Given the description of an element on the screen output the (x, y) to click on. 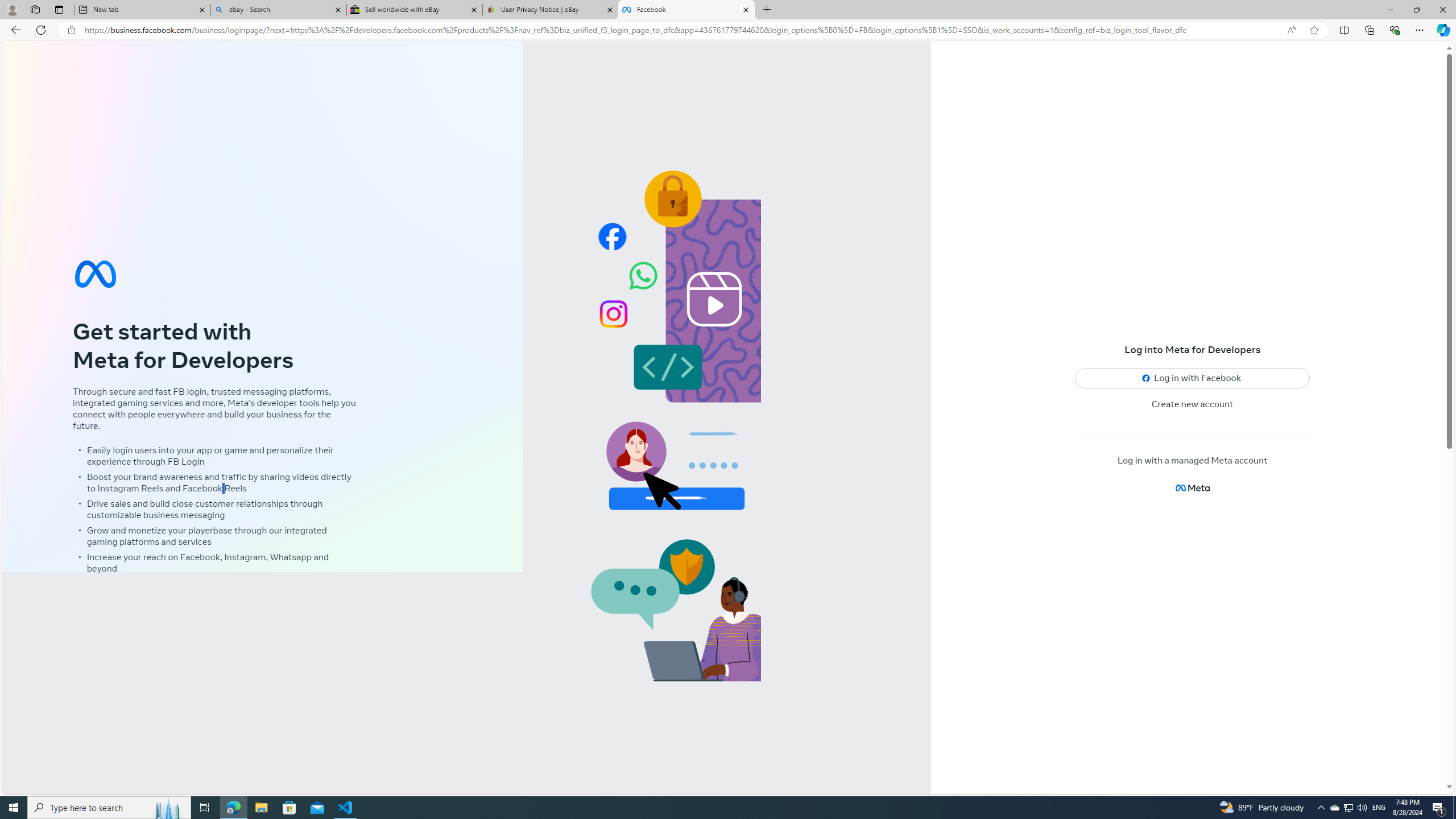
Meta symbol (95, 273)
